Given the description of an element on the screen output the (x, y) to click on. 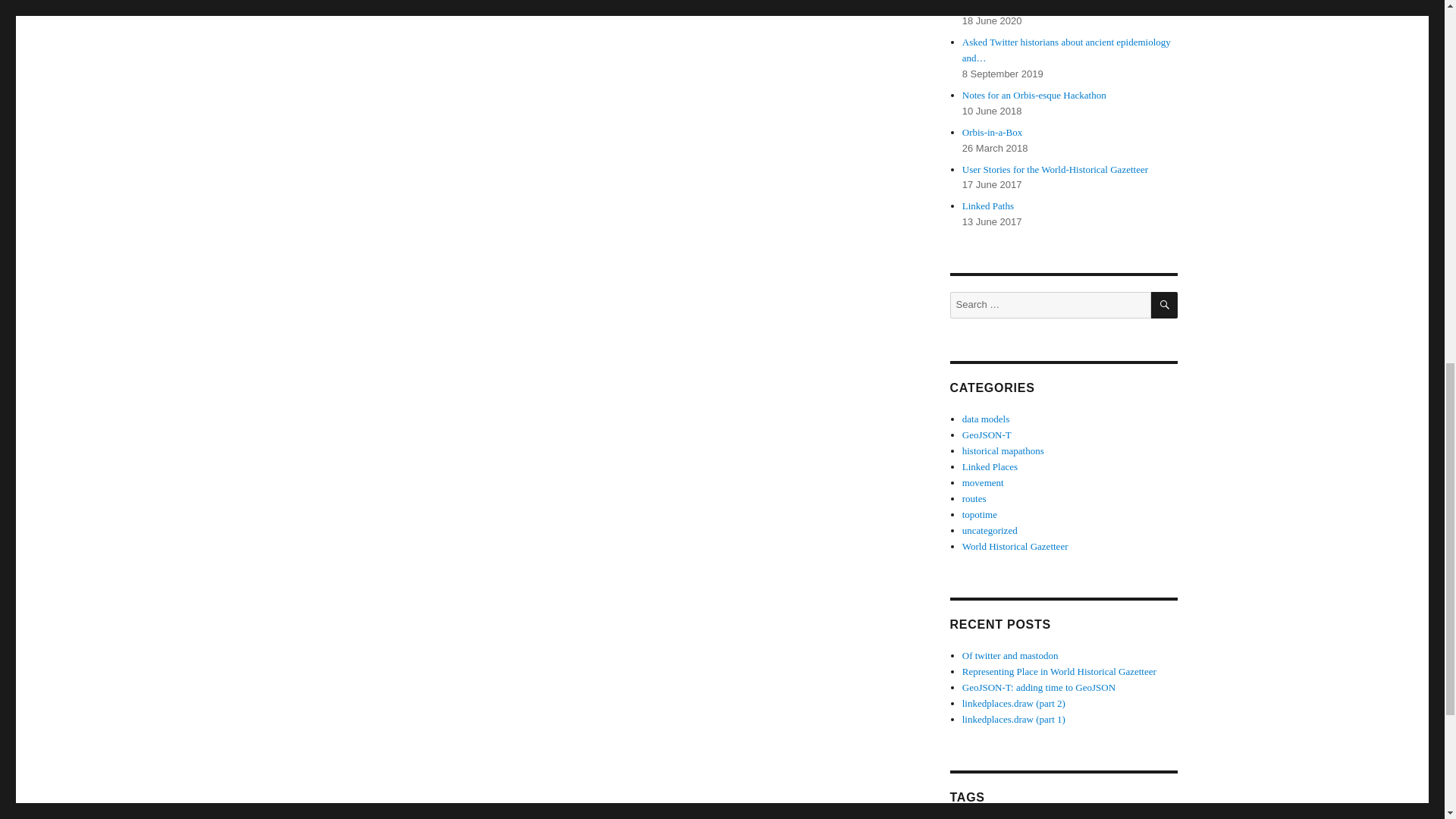
data models (985, 419)
Notes for an Orbis-esque Hackathon (1034, 94)
historical mapathons (1002, 450)
User Stories for the World-Historical Gazetteer (1055, 169)
Orbis-in-a-Box (992, 132)
movement (983, 482)
Linked Paths (987, 205)
GeoJSON-T (986, 434)
Linked Places (989, 466)
SEARCH (1164, 304)
